Given the description of an element on the screen output the (x, y) to click on. 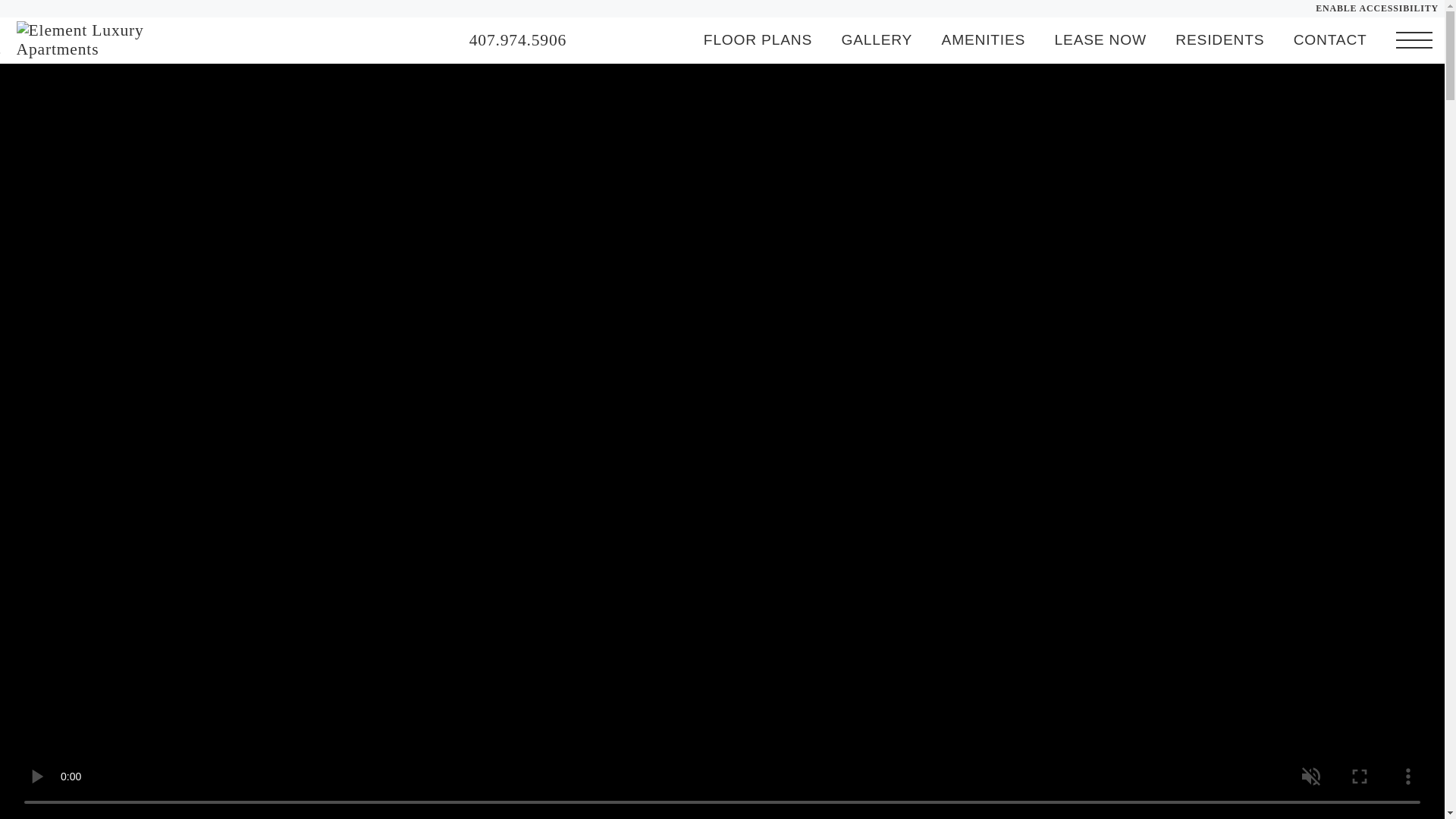
Chat (604, 40)
RESIDENTS (1218, 39)
FLOOR PLANS (757, 39)
AMENITIES (984, 39)
ENABLE ACCESSIBILITY (1377, 8)
LEASE NOW (1100, 39)
Directions (665, 40)
Book a Tour (634, 40)
Skip to Footer (49, 53)
Skip to Main Content (49, 52)
407.974.5906 (517, 40)
CONTACT (1330, 39)
GALLERY (876, 39)
